Given the description of an element on the screen output the (x, y) to click on. 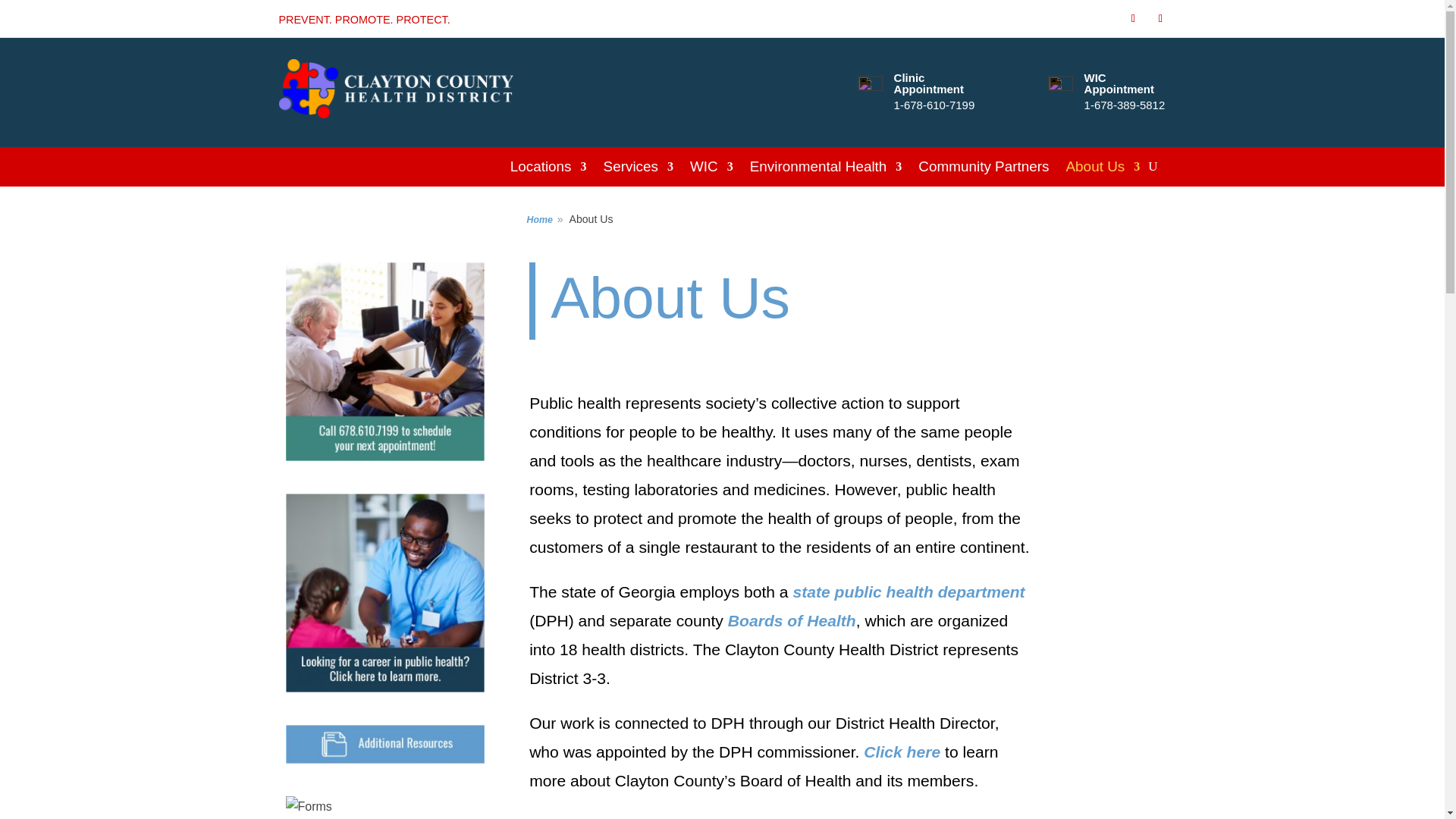
WIC (711, 169)
Services (638, 169)
Follow on X (1160, 18)
Follow on Facebook (1132, 18)
Locations (548, 169)
